Given the description of an element on the screen output the (x, y) to click on. 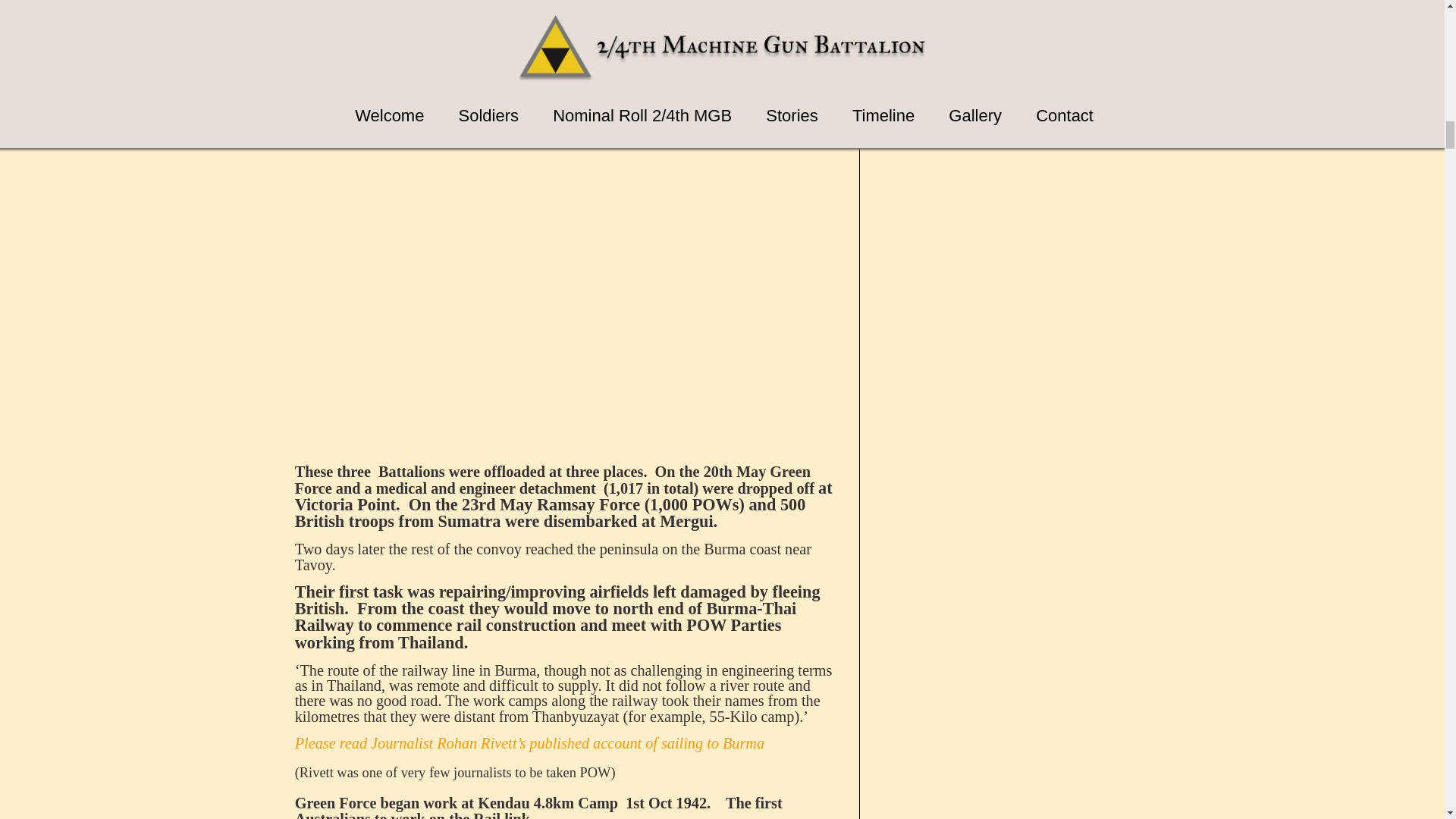
Page 1 (567, 596)
Page 1 (567, 4)
Page 2 (567, 692)
